Given the description of an element on the screen output the (x, y) to click on. 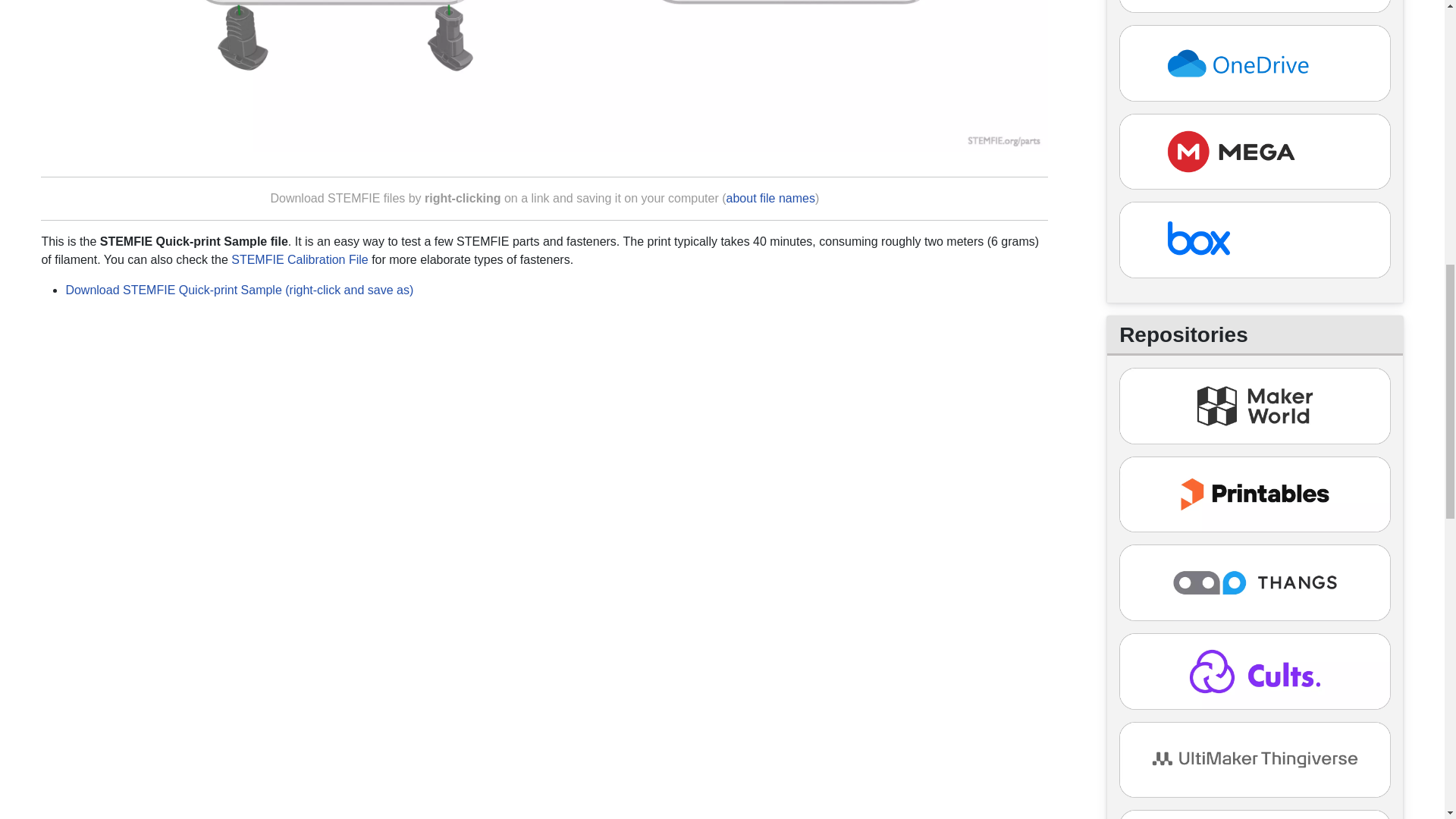
about file names (770, 197)
STEMFIE Calibration File (299, 259)
